Given the description of an element on the screen output the (x, y) to click on. 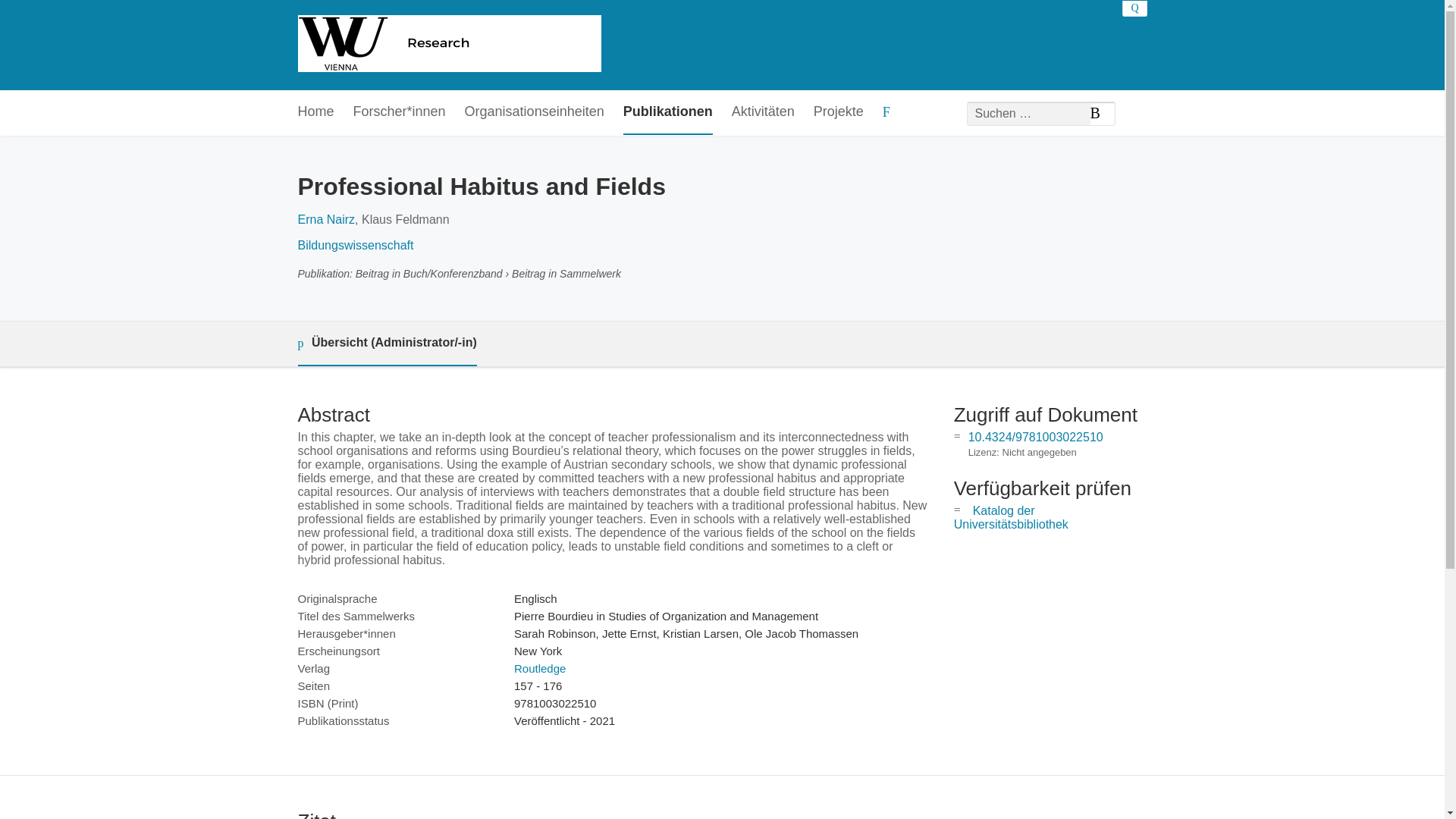
Bildungswissenschaft (355, 245)
Erna Nairz (326, 219)
Organisationseinheiten (534, 112)
Projekte (838, 112)
Publikationen (668, 112)
Routledge (539, 667)
